Given the description of an element on the screen output the (x, y) to click on. 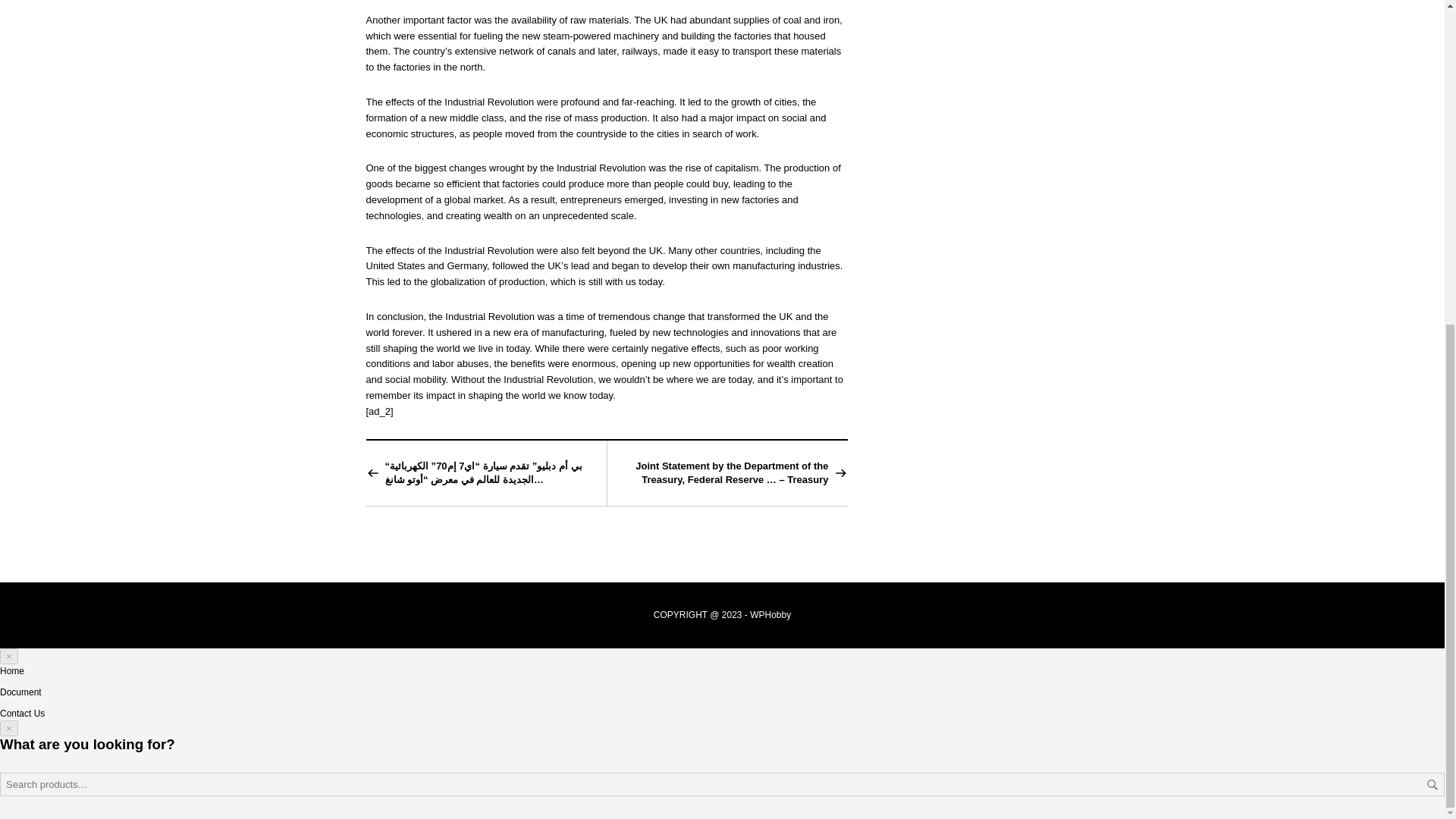
Document (21, 692)
Search (1432, 784)
Contact Us (22, 713)
Home (12, 670)
